Given the description of an element on the screen output the (x, y) to click on. 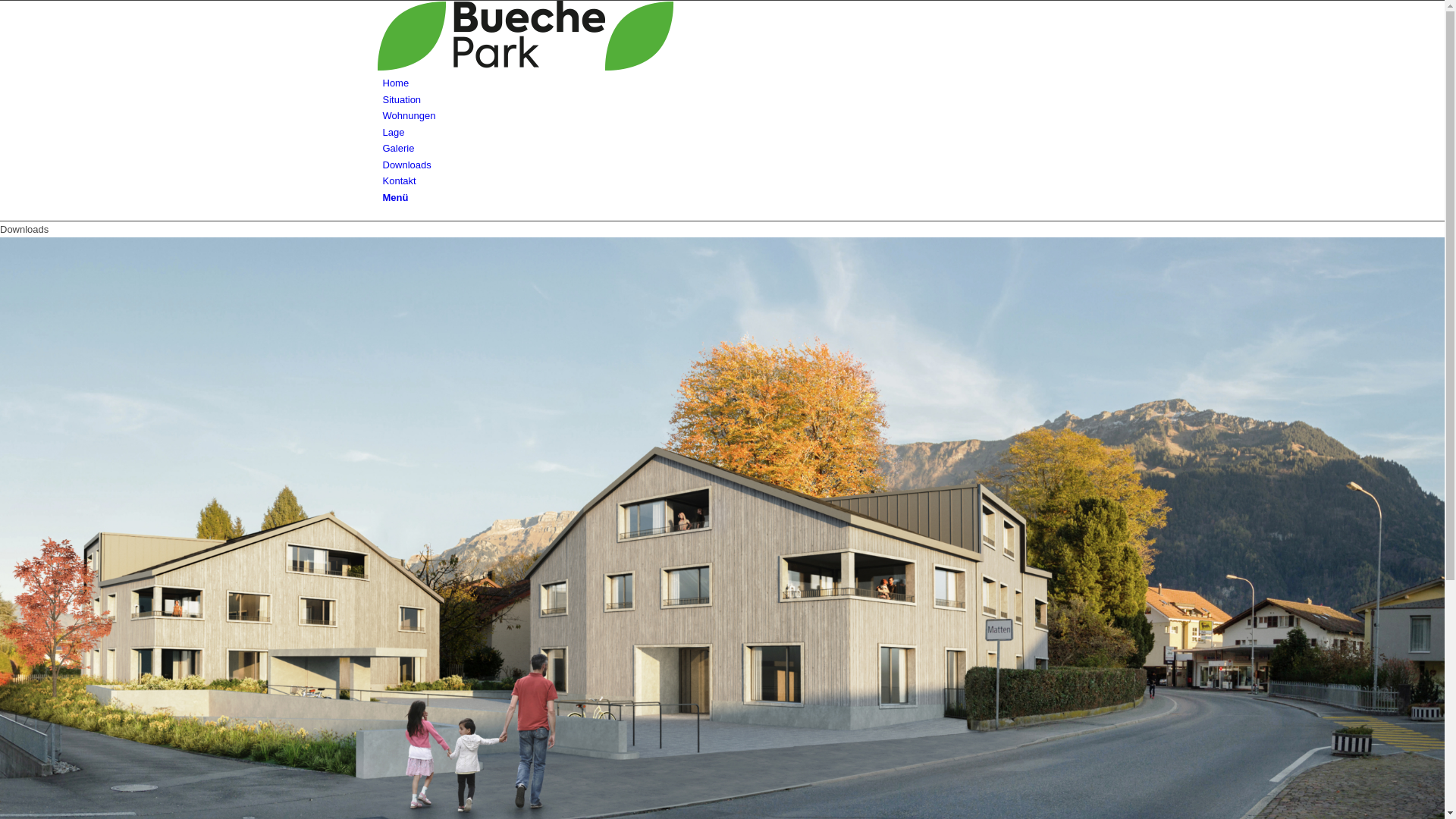
Galerie Element type: text (398, 147)
Situation Element type: text (401, 99)
Kontakt Element type: text (398, 180)
Downloads Element type: text (406, 164)
Lage Element type: text (393, 132)
Home Element type: text (395, 82)
Buechepark Logo 300x92px white Element type: hover (718, 35)
Wohnungen Element type: text (408, 115)
